Given the description of an element on the screen output the (x, y) to click on. 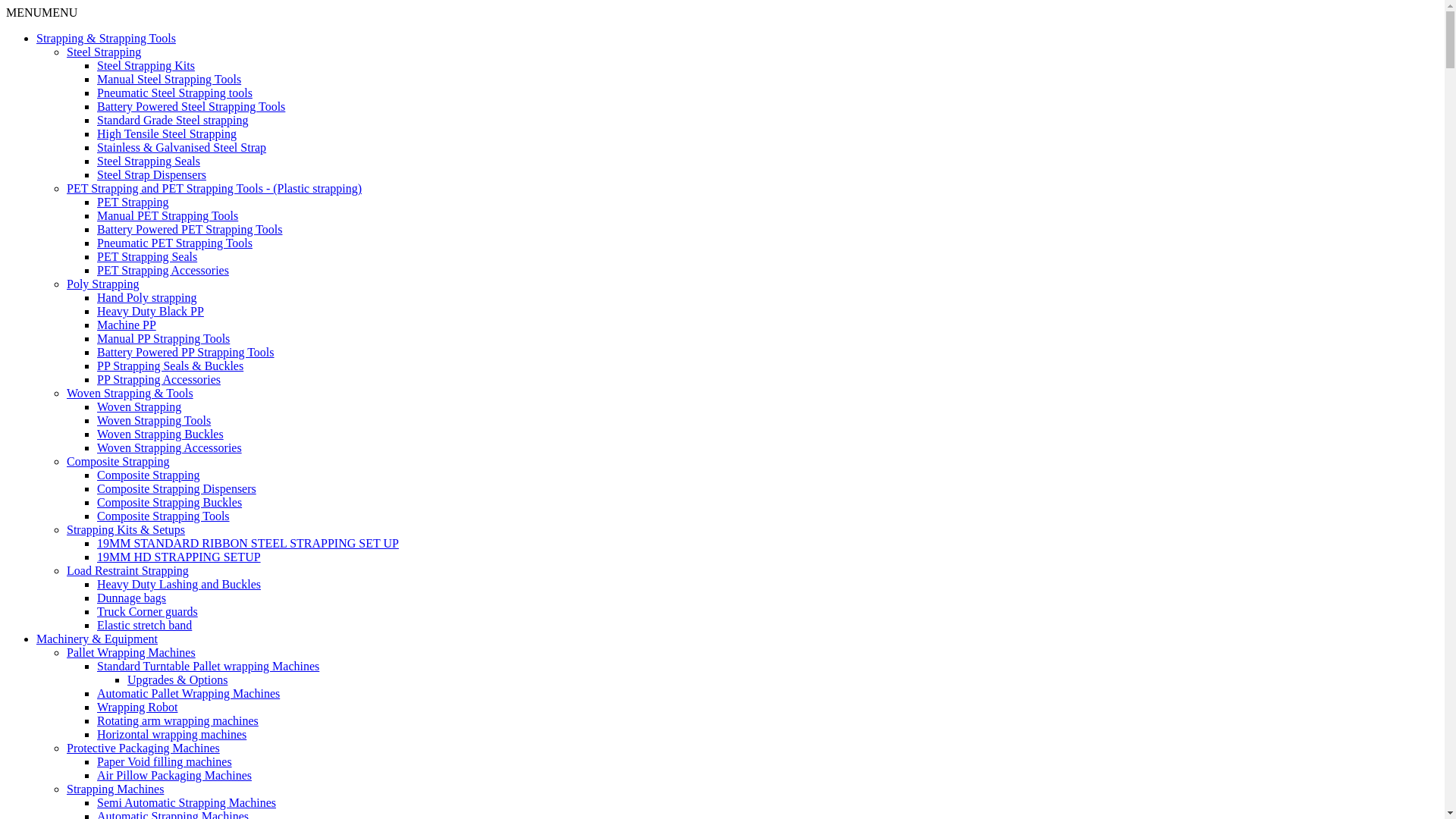
Upgrades & Options Element type: text (177, 679)
Air Pillow Packaging Machines Element type: text (174, 774)
Hand Poly strapping Element type: text (147, 297)
Battery Powered PP Strapping Tools Element type: text (185, 351)
Horizontal wrapping machines Element type: text (171, 734)
Steel Strapping Seals Element type: text (148, 160)
PET Strapping Seals Element type: text (147, 256)
Strapping Kits & Setups Element type: text (125, 529)
Composite Strapping Element type: text (117, 461)
PP Strapping Seals & Buckles Element type: text (170, 365)
High Tensile Steel Strapping Element type: text (166, 133)
19MM STANDARD RIBBON STEEL STRAPPING SET UP Element type: text (247, 542)
Manual Steel Strapping Tools Element type: text (169, 78)
Machine PP Element type: text (126, 324)
Load Restraint Strapping Element type: text (127, 570)
19MM HD STRAPPING SETUP Element type: text (178, 556)
PET Strapping Element type: text (132, 201)
Paper Void filling machines Element type: text (164, 761)
Manual PET Strapping Tools Element type: text (167, 215)
Pneumatic Steel Strapping tools Element type: text (174, 92)
Pneumatic PET Strapping Tools Element type: text (174, 242)
Manual PP Strapping Tools Element type: text (163, 338)
Steel Strap Dispensers Element type: text (151, 174)
Steel Strapping Kits Element type: text (145, 65)
Standard Turntable Pallet wrapping Machines Element type: text (208, 665)
Composite Strapping Dispensers Element type: text (176, 488)
Heavy Duty Lashing and Buckles Element type: text (178, 583)
Woven Strapping Tools Element type: text (153, 420)
Machinery & Equipment Element type: text (96, 638)
Composite Strapping Buckles Element type: text (169, 501)
Woven Strapping Accessories Element type: text (169, 447)
Heavy Duty Black PP Element type: text (150, 310)
PET Strapping and PET Strapping Tools - (Plastic strapping) Element type: text (213, 188)
Steel Strapping Element type: text (103, 51)
Woven Strapping Element type: text (139, 406)
Composite Strapping Element type: text (148, 474)
Strapping & Strapping Tools Element type: text (105, 37)
Poly Strapping Element type: text (102, 283)
Truck Corner guards Element type: text (147, 611)
Elastic stretch band Element type: text (144, 624)
Battery Powered PET Strapping Tools Element type: text (189, 228)
Woven Strapping Buckles Element type: text (160, 433)
Automatic Pallet Wrapping Machines Element type: text (188, 693)
Stainless & Galvanised Steel Strap Element type: text (181, 147)
PET Strapping Accessories Element type: text (163, 269)
Battery Powered Steel Strapping Tools Element type: text (191, 106)
Wrapping Robot Element type: text (137, 706)
Woven Strapping & Tools Element type: text (129, 392)
Pallet Wrapping Machines Element type: text (130, 652)
Dunnage bags Element type: text (131, 597)
Protective Packaging Machines Element type: text (142, 747)
Standard Grade Steel strapping Element type: text (172, 119)
Composite Strapping Tools Element type: text (163, 515)
Semi Automatic Strapping Machines Element type: text (186, 802)
Strapping Machines Element type: text (114, 788)
PP Strapping Accessories Element type: text (158, 379)
Rotating arm wrapping machines Element type: text (177, 720)
